Given the description of an element on the screen output the (x, y) to click on. 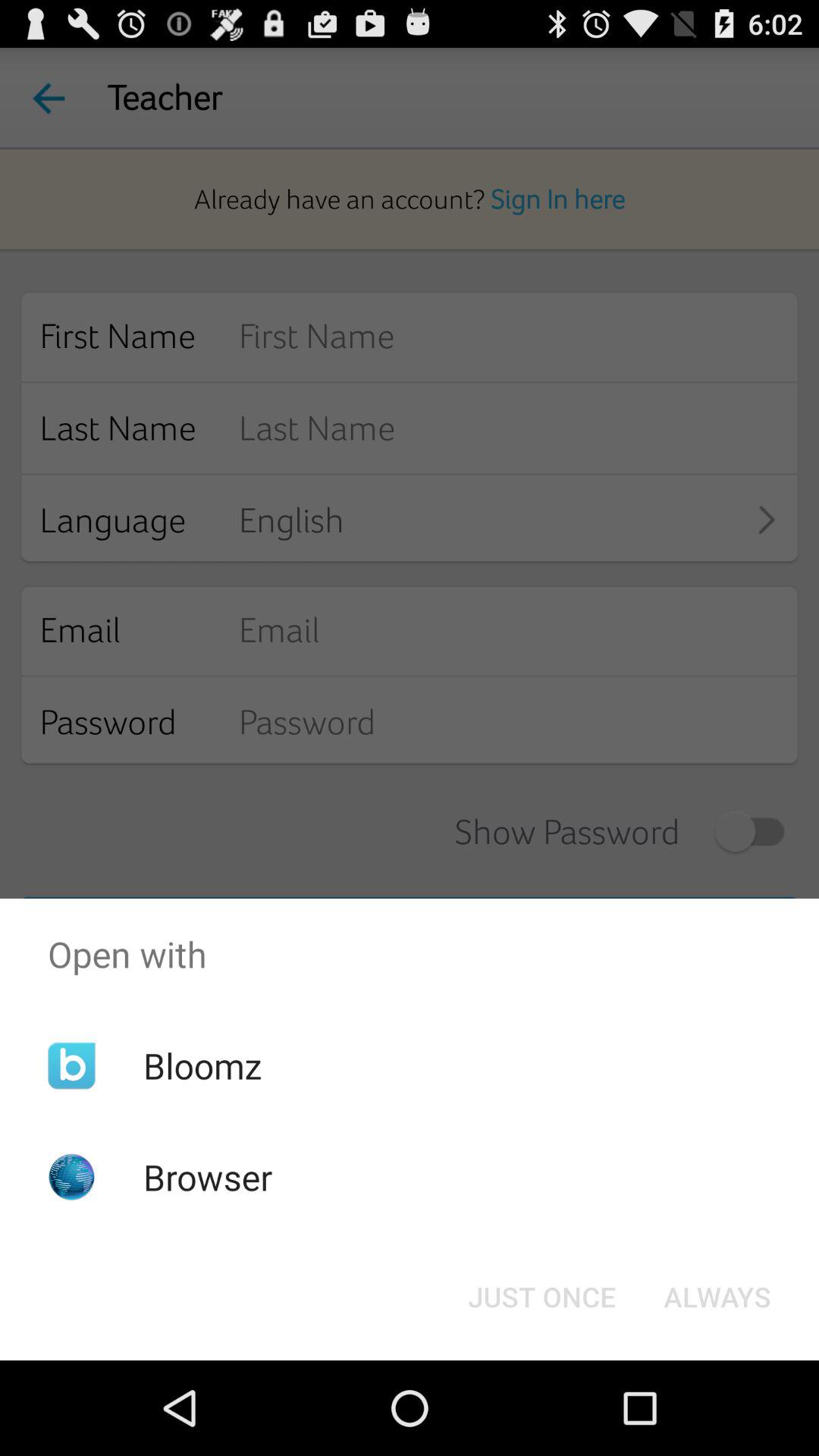
tap the item next to the always button (541, 1296)
